Given the description of an element on the screen output the (x, y) to click on. 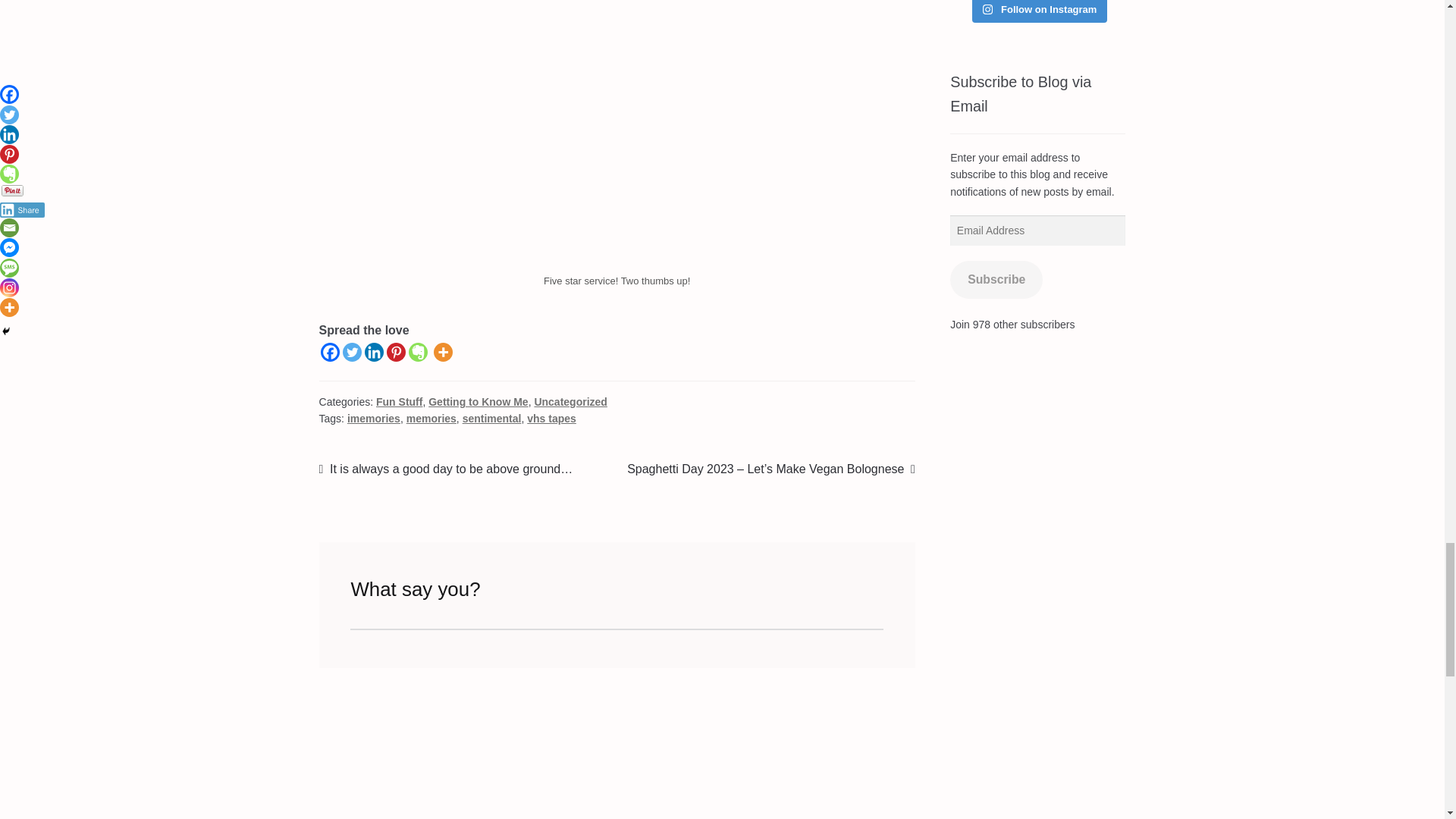
Linkedin (374, 352)
Facebook (329, 352)
Twitter (351, 352)
Evernote (418, 352)
Pinterest (396, 352)
More (442, 352)
